Given the description of an element on the screen output the (x, y) to click on. 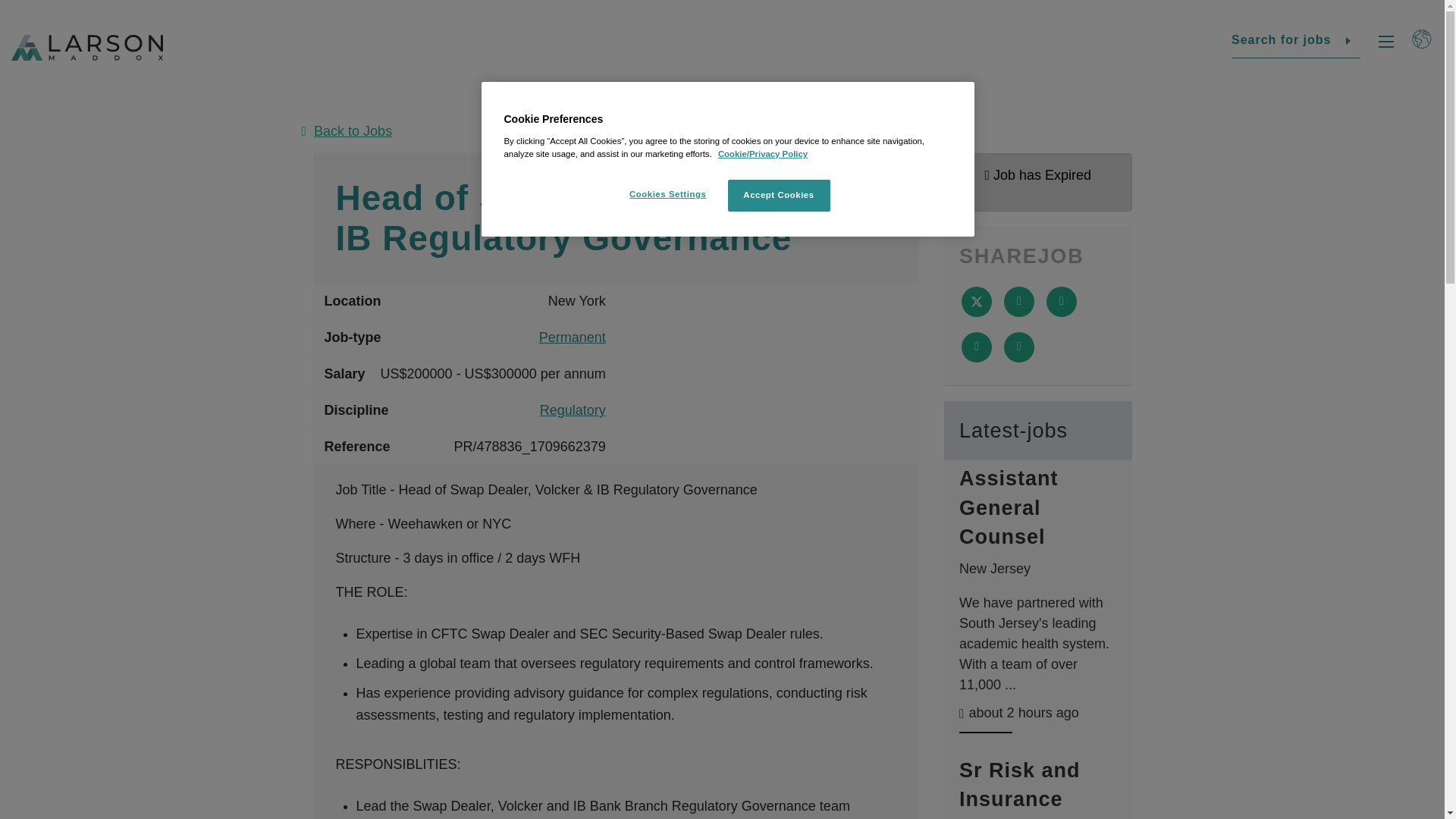
Permanent (571, 337)
Instagram (1324, 715)
Regulatory (572, 410)
Search for jobs (1295, 41)
Go to the Homepage (87, 47)
Go to the Homepage (79, 577)
LinkedIn (1061, 301)
YouTube (1359, 715)
Back to Jobs (721, 131)
Twitter (975, 301)
Facebook (1222, 715)
Email (975, 347)
WeChat (1393, 715)
Larson Maddox (87, 47)
LinkedIn (1256, 715)
